Given the description of an element on the screen output the (x, y) to click on. 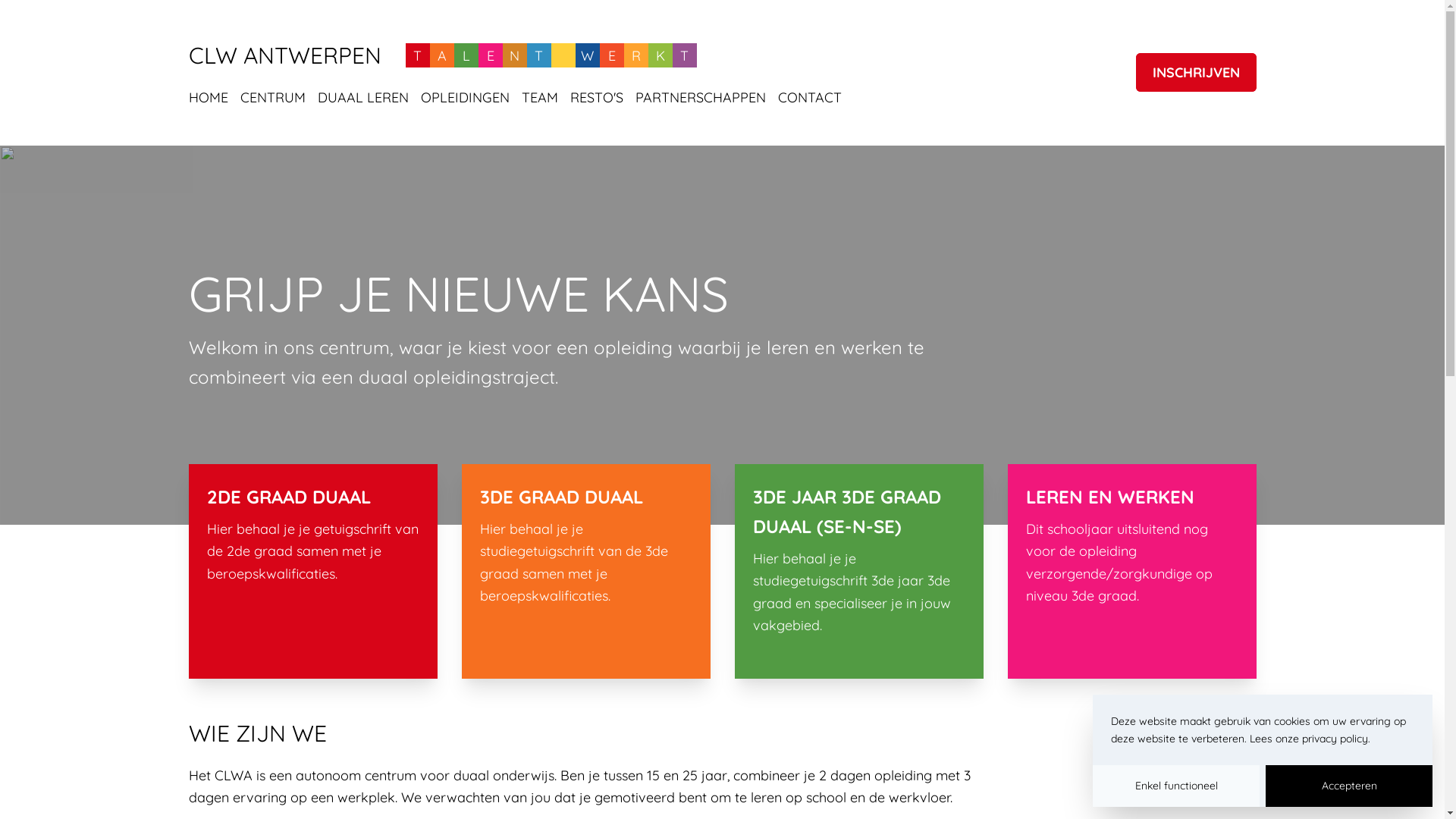
INSCHRIJVEN Element type: text (1195, 72)
CENTRUM Element type: text (271, 98)
DUAAL LEREN Element type: text (361, 98)
PARTNERSCHAPPEN Element type: text (700, 98)
CONTACT Element type: text (809, 98)
TEAM Element type: text (539, 98)
OPLEIDINGEN Element type: text (464, 98)
Accepteren Element type: text (1348, 785)
HOME Element type: text (207, 98)
CLW ANTWERPEN Element type: text (284, 54)
Enkel functioneel Element type: text (1175, 785)
Lees onze privacy policy Element type: text (1308, 737)
RESTO'S Element type: text (596, 98)
